Given the description of an element on the screen output the (x, y) to click on. 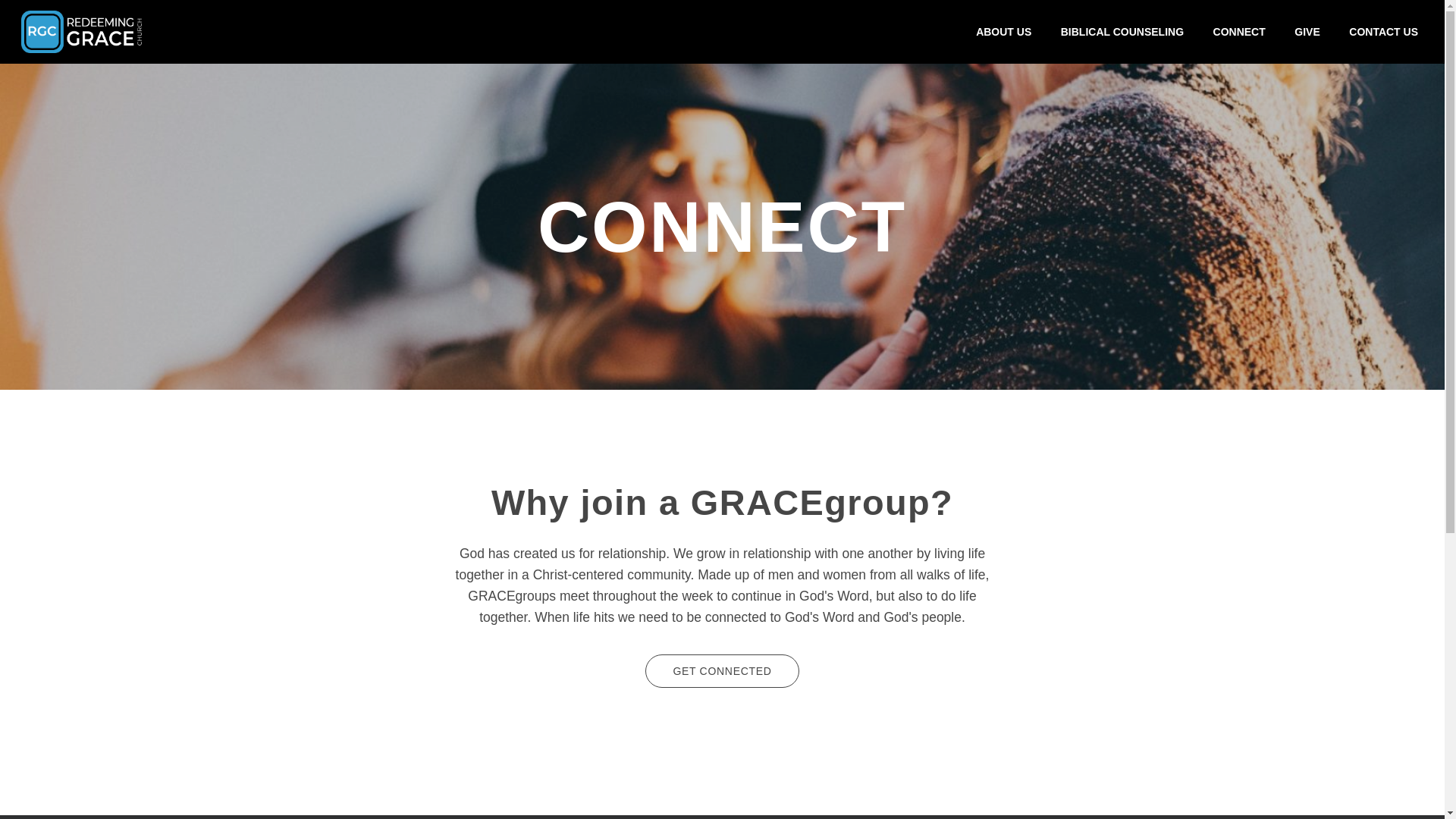
BIBLICAL COUNSELING (1122, 31)
ABOUT US (1003, 31)
CONNECT (1239, 31)
GET CONNECTED (721, 670)
CONTACT US (1383, 31)
GIVE (1306, 31)
